Given the description of an element on the screen output the (x, y) to click on. 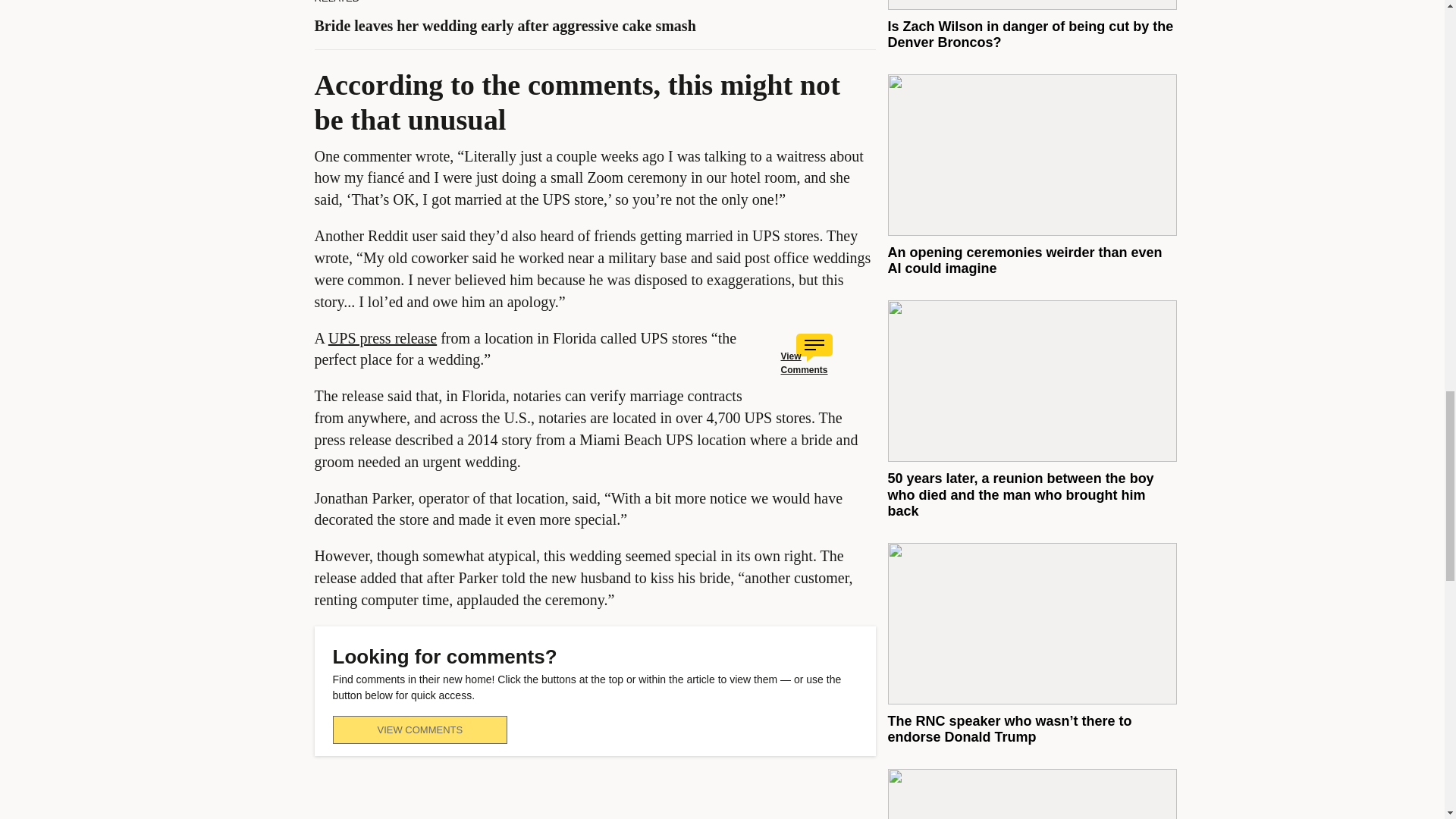
Is Zach Wilson in danger of being cut by the Denver Broncos? (1029, 34)
UPS press release (382, 338)
Bride leaves her wedding early after aggressive cake smash (504, 25)
An opening ceremonies weirder than even AI could imagine (1023, 260)
VIEW COMMENTS (418, 729)
